Given the description of an element on the screen output the (x, y) to click on. 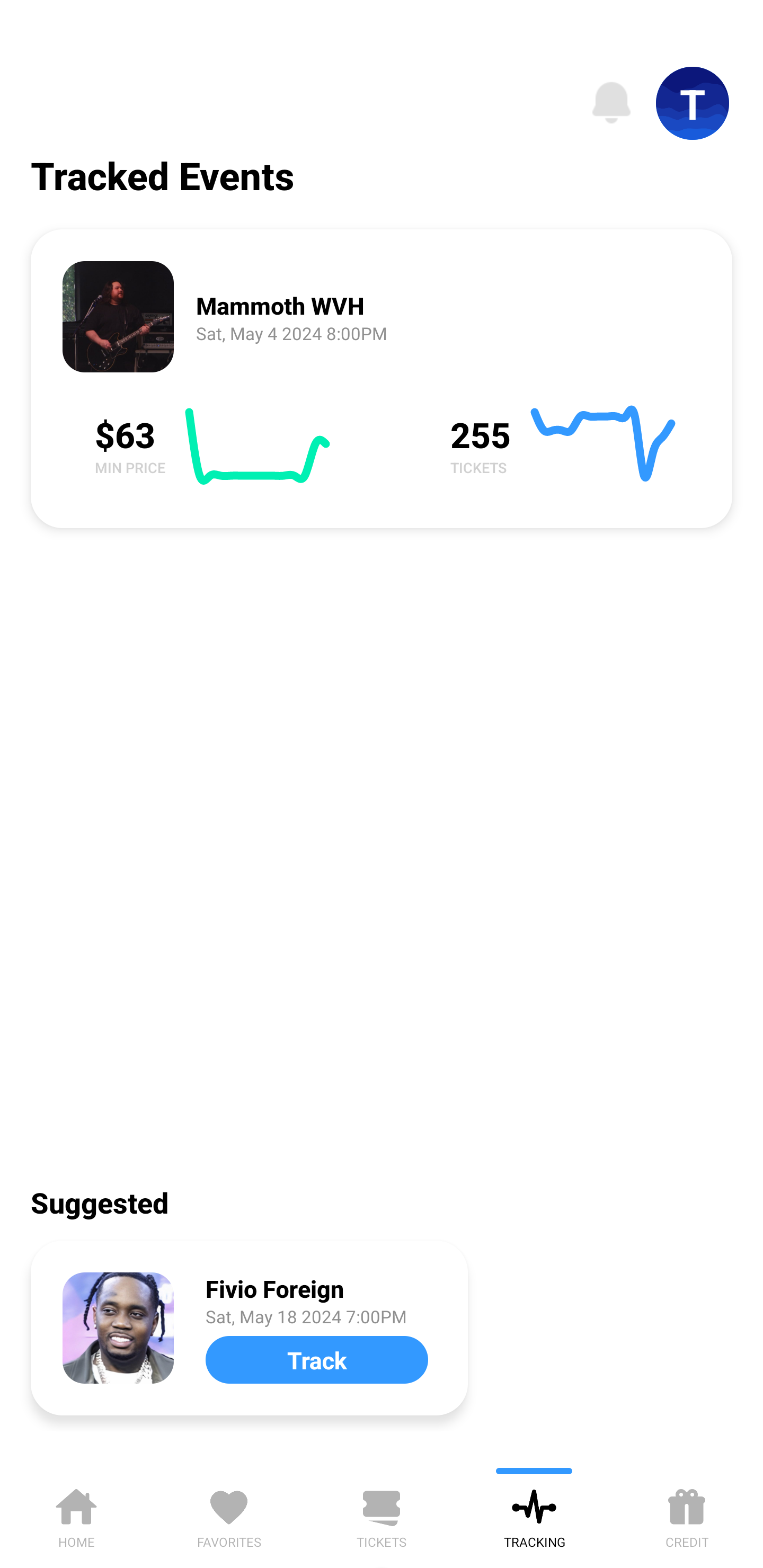
T (692, 103)
Track (316, 1358)
HOME (76, 1515)
FAVORITES (228, 1515)
TICKETS (381, 1515)
TRACKING (533, 1515)
CREDIT (686, 1515)
